Given the description of an element on the screen output the (x, y) to click on. 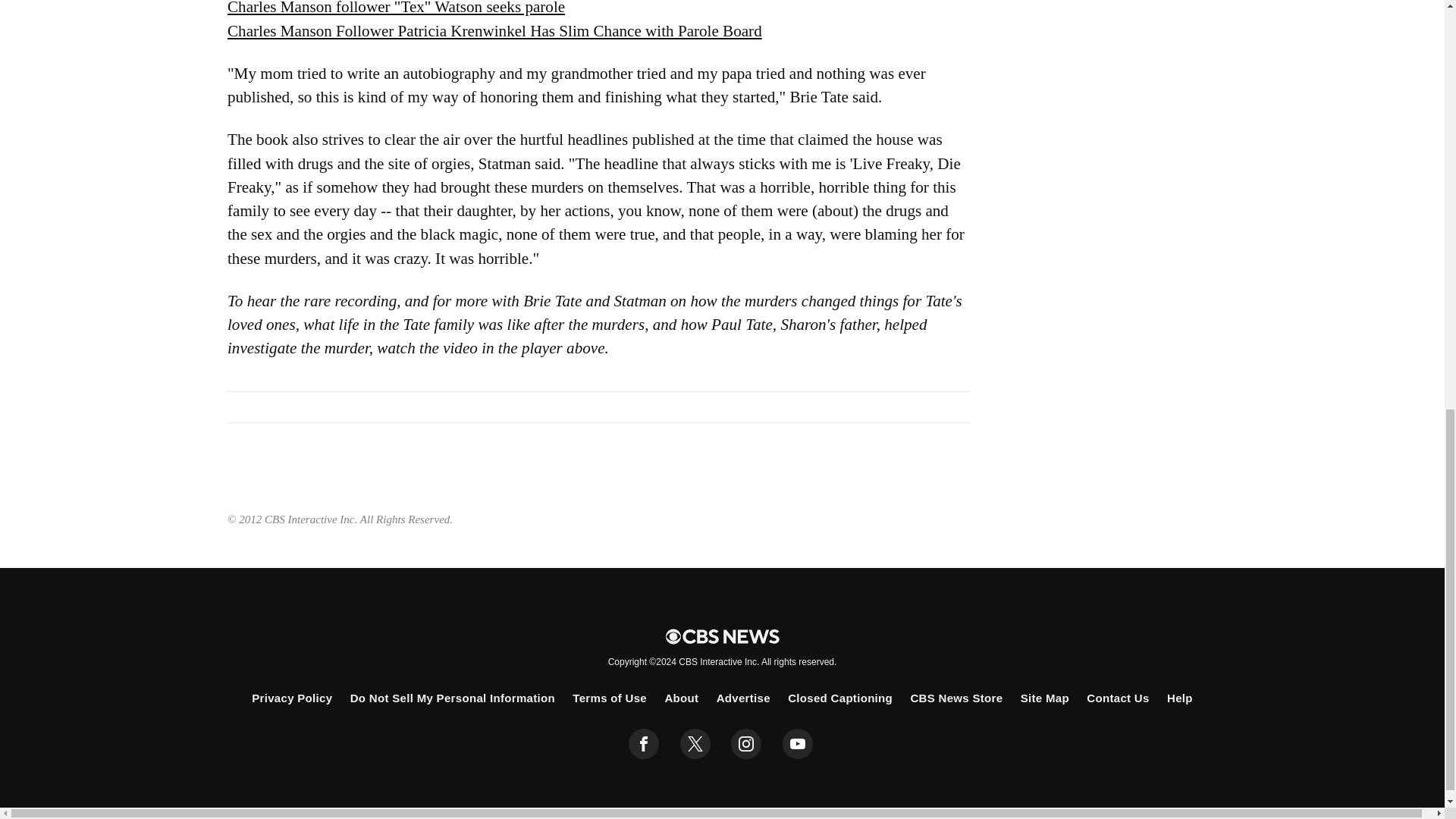
facebook (643, 743)
youtube (797, 743)
twitter (694, 743)
instagram (745, 743)
